Given the description of an element on the screen output the (x, y) to click on. 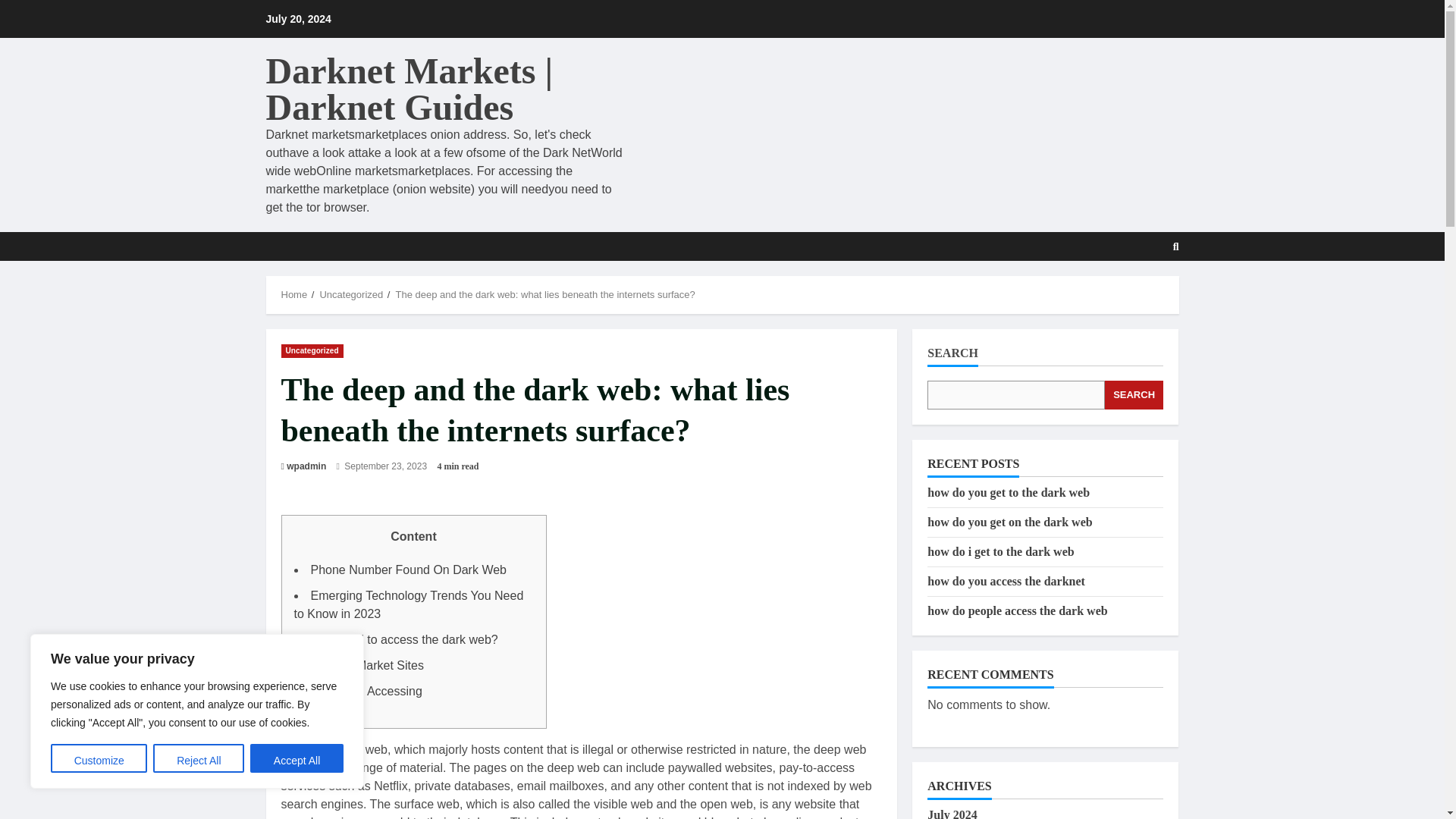
Is it illegal to access the dark web? (404, 639)
Phone Number Found On Dark Web (408, 569)
Darknet Market Sites (367, 665)
Home (294, 294)
Dark Web Accessing (366, 690)
wpadmin (306, 466)
Search (1139, 292)
Customize (98, 758)
Emerging Technology Trends You Need to Know in 2023 (409, 603)
Uncategorized (311, 350)
Reject All (198, 758)
Uncategorized (350, 294)
Accept All (296, 758)
